Given the description of an element on the screen output the (x, y) to click on. 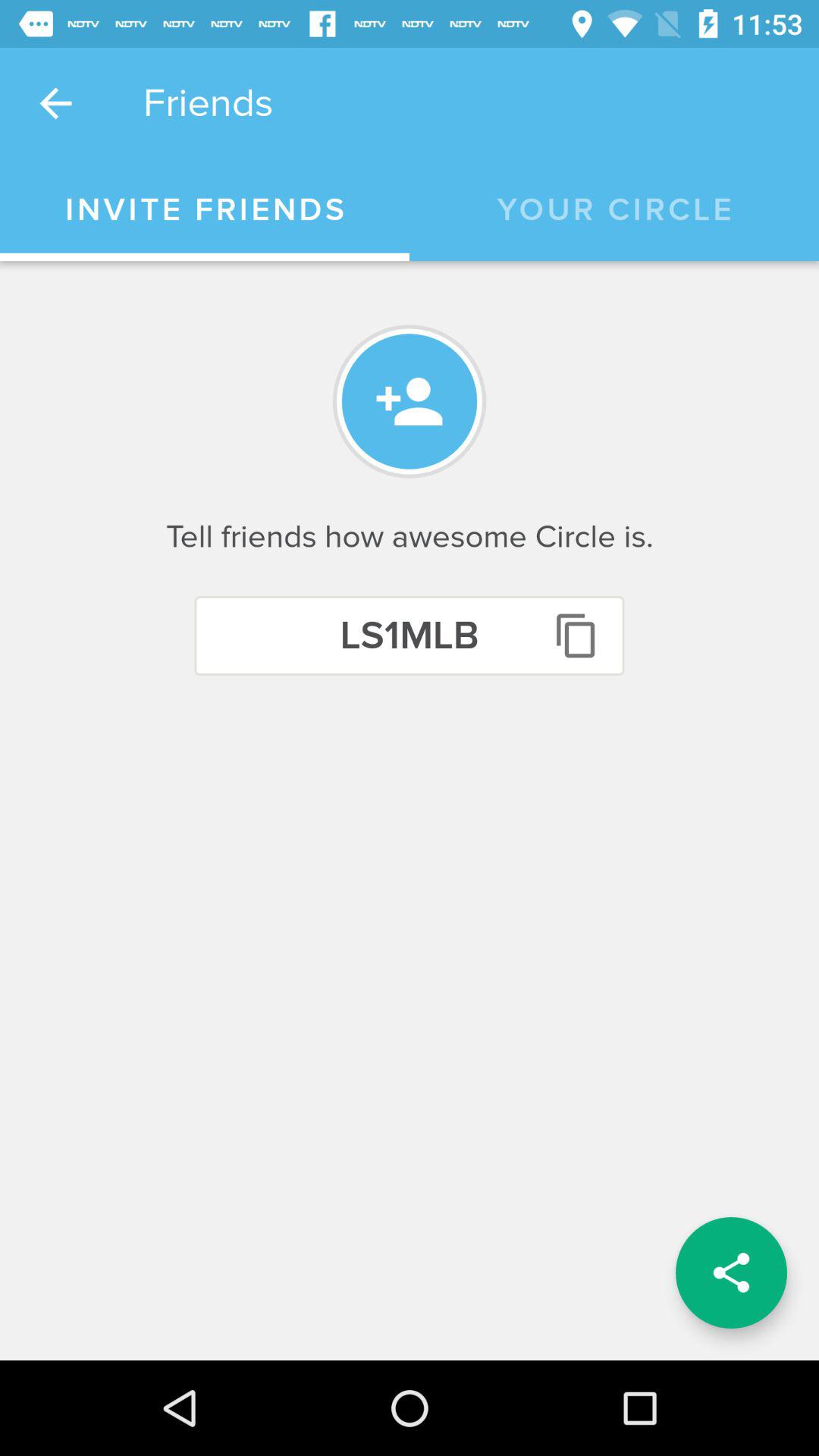
choose the icon below tell friends how (409, 635)
